Given the description of an element on the screen output the (x, y) to click on. 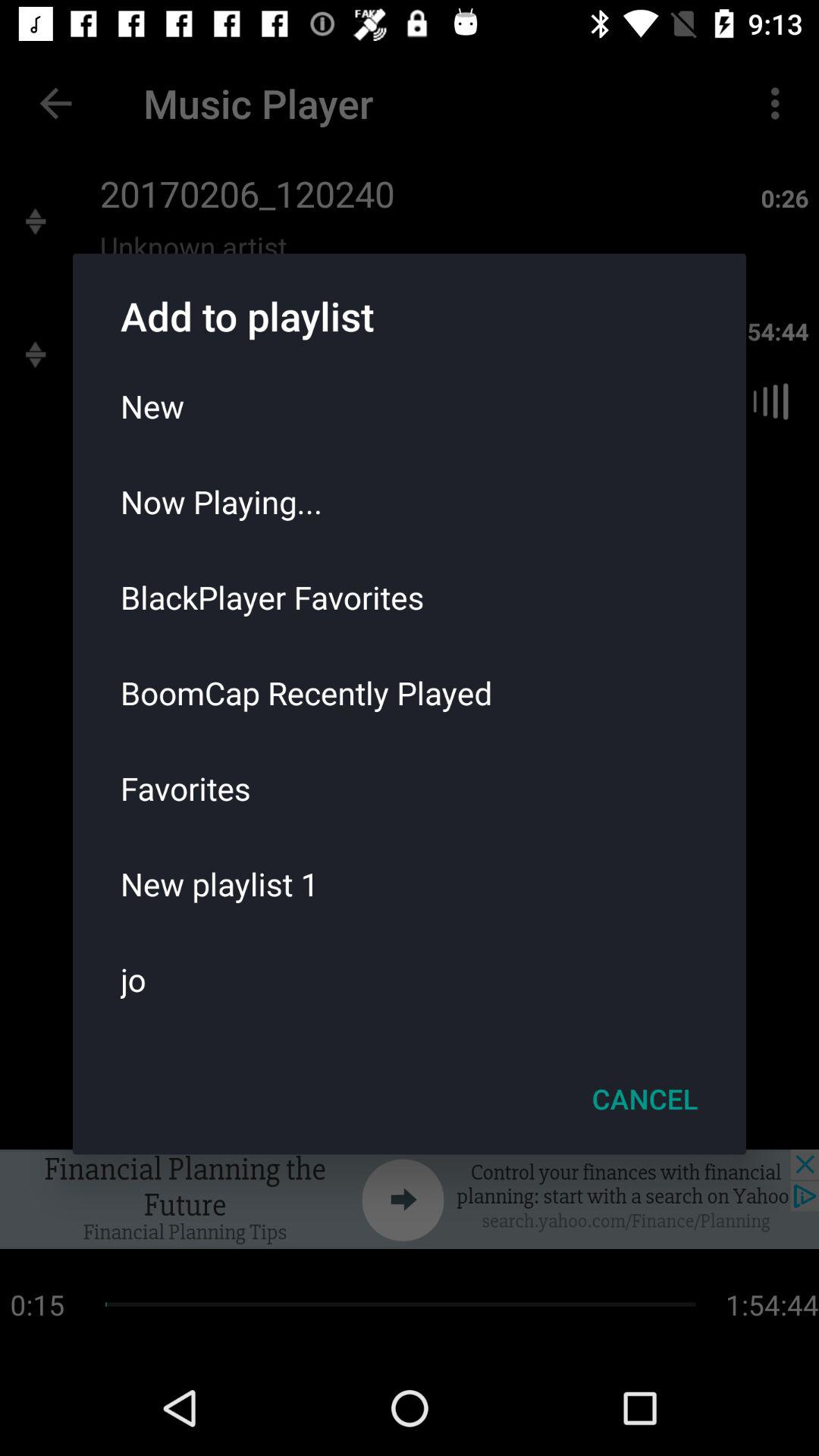
launch icon below the now playing... (409, 596)
